Given the description of an element on the screen output the (x, y) to click on. 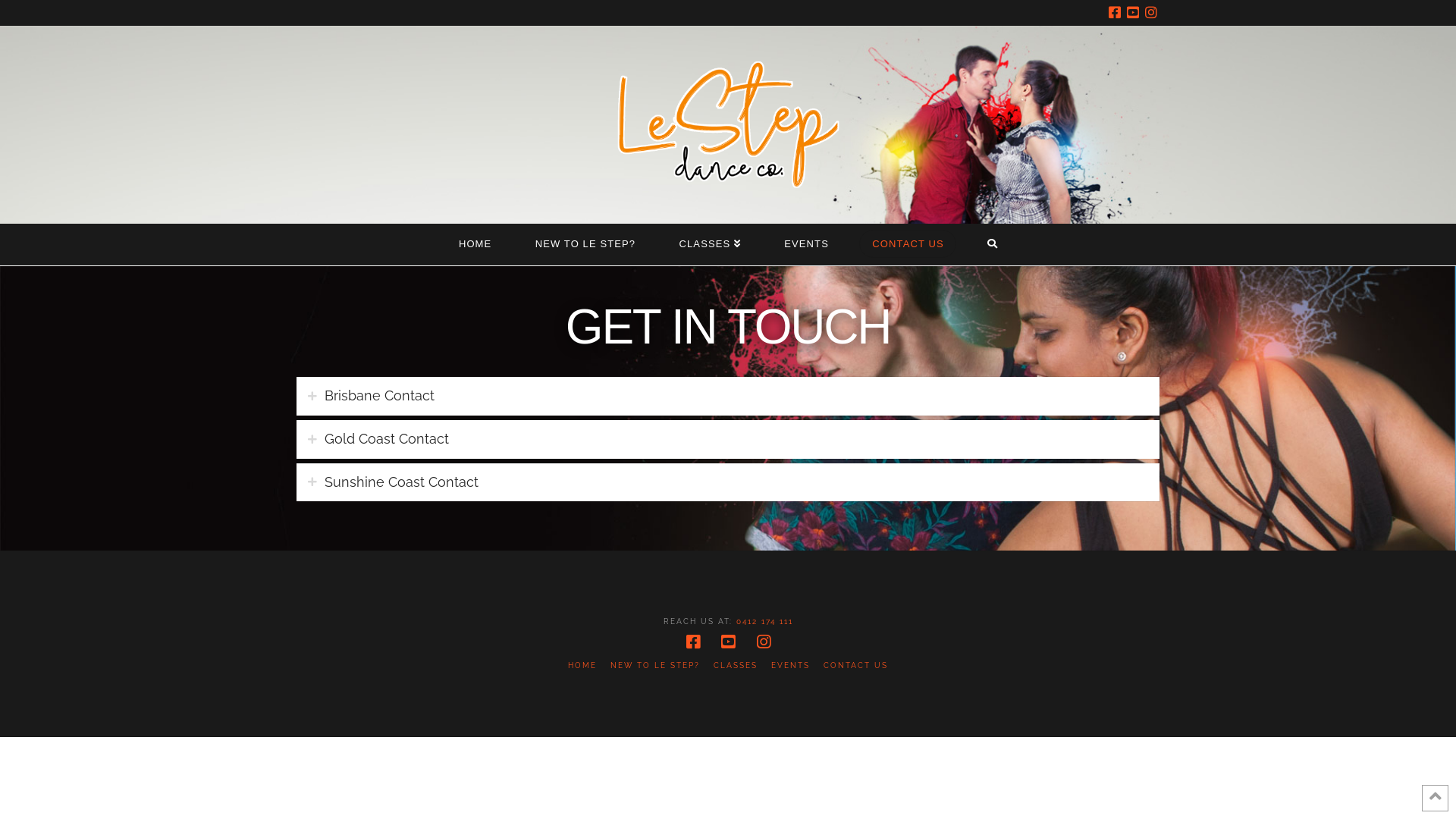
NEW TO LE STEP? Element type: text (654, 665)
Back to Top Element type: hover (1434, 797)
YouTube Element type: hover (727, 641)
Instagram Element type: hover (1151, 12)
CONTACT US Element type: text (855, 665)
HOME Element type: text (581, 665)
Facebook Element type: hover (1114, 12)
EVENTS Element type: text (806, 244)
0412 174 111 Element type: text (763, 621)
Gold Coast Contact Element type: text (727, 439)
YouTube Element type: hover (1132, 12)
EVENTS Element type: text (790, 665)
NEW TO LE STEP? Element type: text (584, 244)
HOME Element type: text (474, 244)
Brisbane Contact Element type: text (727, 395)
CLASSES Element type: text (709, 244)
CONTACT US Element type: text (907, 244)
Instagram Element type: hover (763, 641)
Sunshine Coast Contact Element type: text (727, 482)
Facebook Element type: hover (692, 641)
CLASSES Element type: text (735, 665)
